Given the description of an element on the screen output the (x, y) to click on. 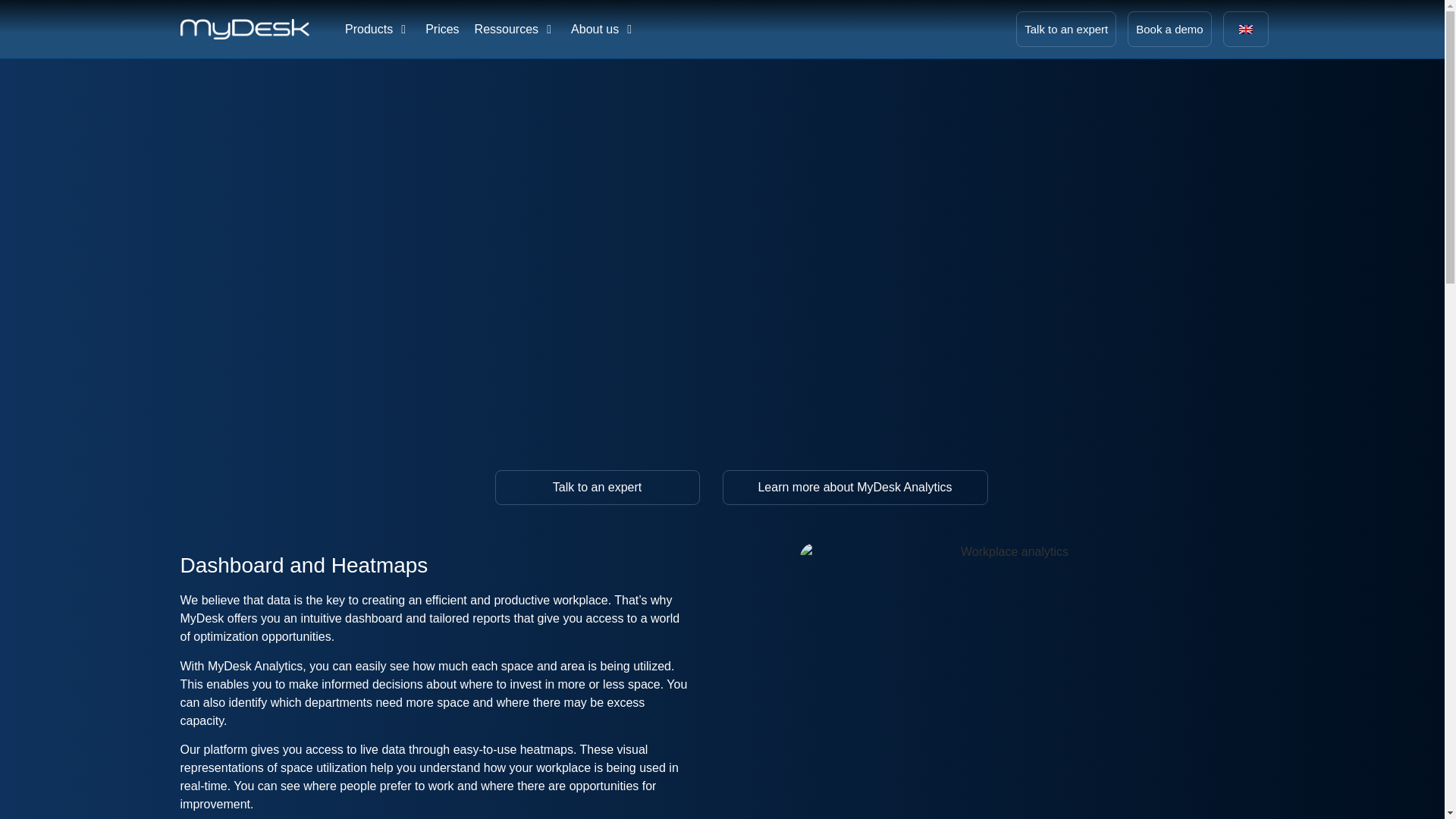
Prices (441, 28)
Ressources (506, 28)
Products (369, 28)
logo-w - MyDesk (244, 28)
About us (594, 28)
